Given the description of an element on the screen output the (x, y) to click on. 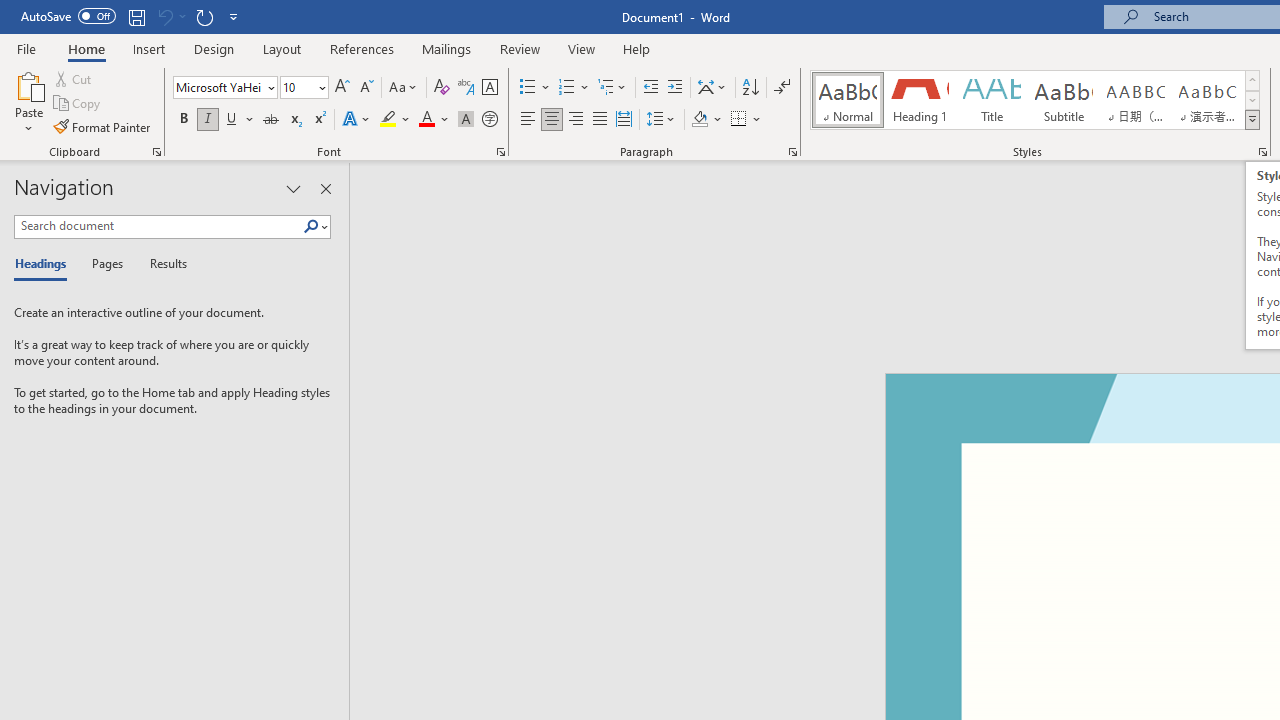
Italic (207, 119)
Text Effects and Typography (357, 119)
Pages (105, 264)
Increase Indent (675, 87)
Font Color Red (426, 119)
Subtitle (1063, 100)
Grow Font (342, 87)
Format Painter (103, 126)
Shading (706, 119)
